Given the description of an element on the screen output the (x, y) to click on. 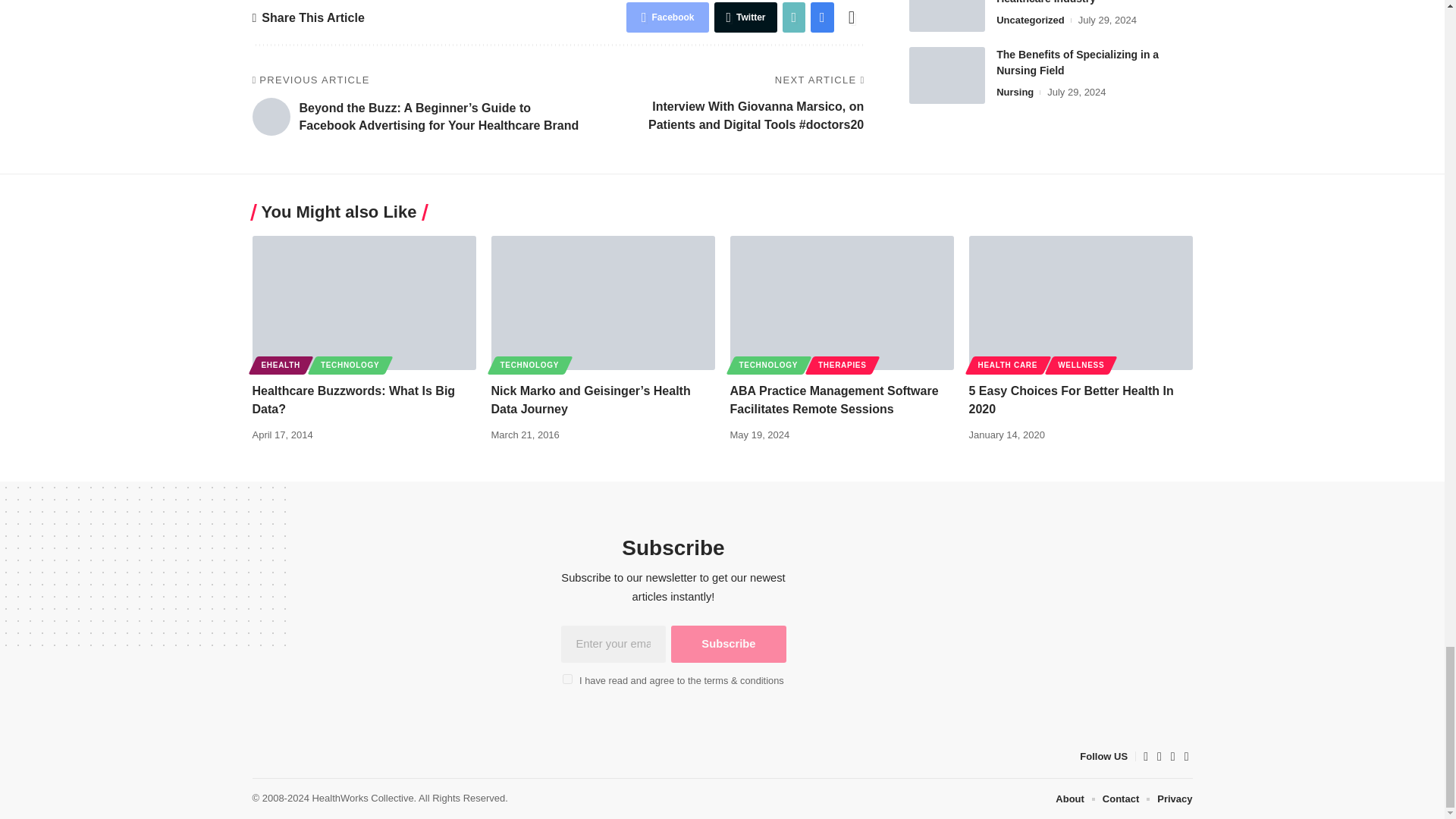
Healthcare Buzzwords: What Is Big Data? (363, 302)
1 (567, 678)
Subscribe (728, 643)
